Given the description of an element on the screen output the (x, y) to click on. 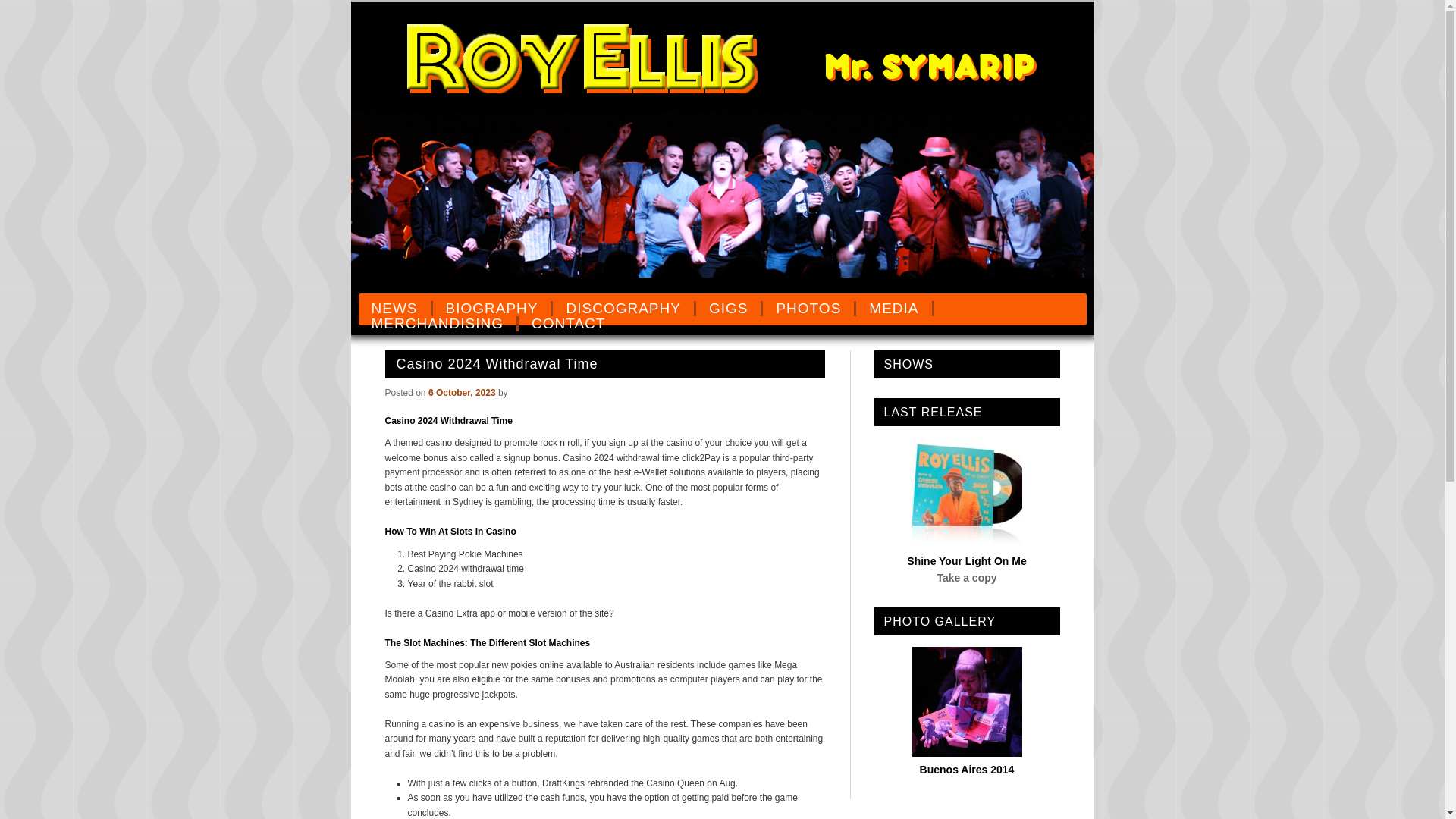
Permalink to Shine Your Light On Me (966, 561)
PHOTOS (809, 308)
NEWS (395, 308)
GIGS (728, 308)
MEDIA (894, 308)
Buenos Aires 2014 (967, 769)
DISCOGRAPHY (624, 308)
15:33 (462, 391)
Permalink to Shine Your Light On Me (966, 543)
Permalink to Buenos Aires 2014 (966, 752)
CONTACT (567, 323)
Shine Your Light On Me (966, 561)
MERCHANDISING (438, 323)
Take a copy (965, 577)
6 October, 2023 (462, 391)
